Given the description of an element on the screen output the (x, y) to click on. 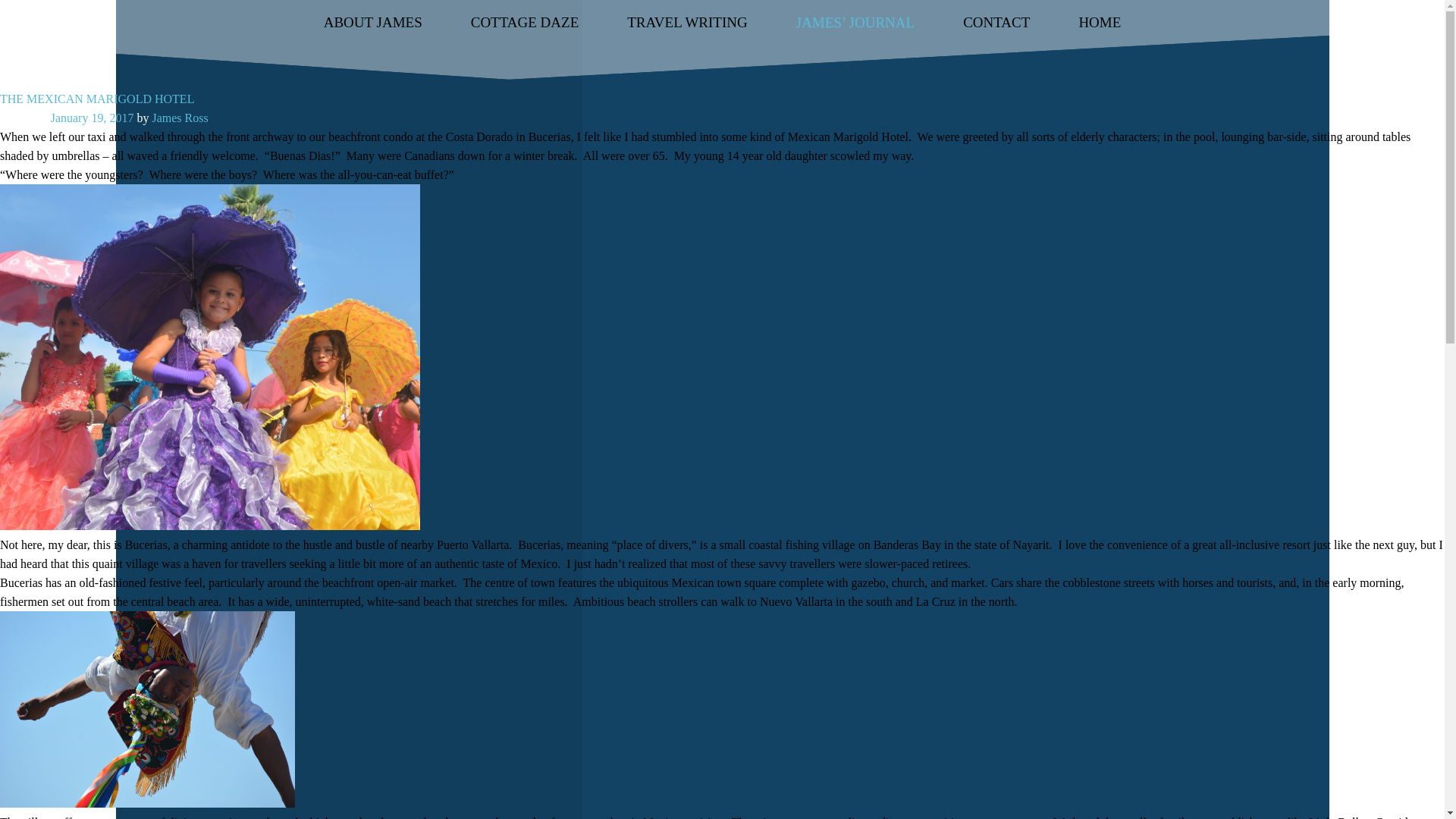
CONTACT (995, 22)
January 19, 2017 (91, 117)
View all posts by James Ross (179, 117)
TRAVEL WRITING (687, 22)
James Ross (179, 117)
COTTAGE DAZE (524, 22)
Permalink to THE MEXICAN MARIGOLD HOTEL (96, 98)
4:10 pm (91, 117)
THE MEXICAN MARIGOLD HOTEL (96, 98)
ABOUT JAMES (372, 22)
HOME (1099, 22)
